Given the description of an element on the screen output the (x, y) to click on. 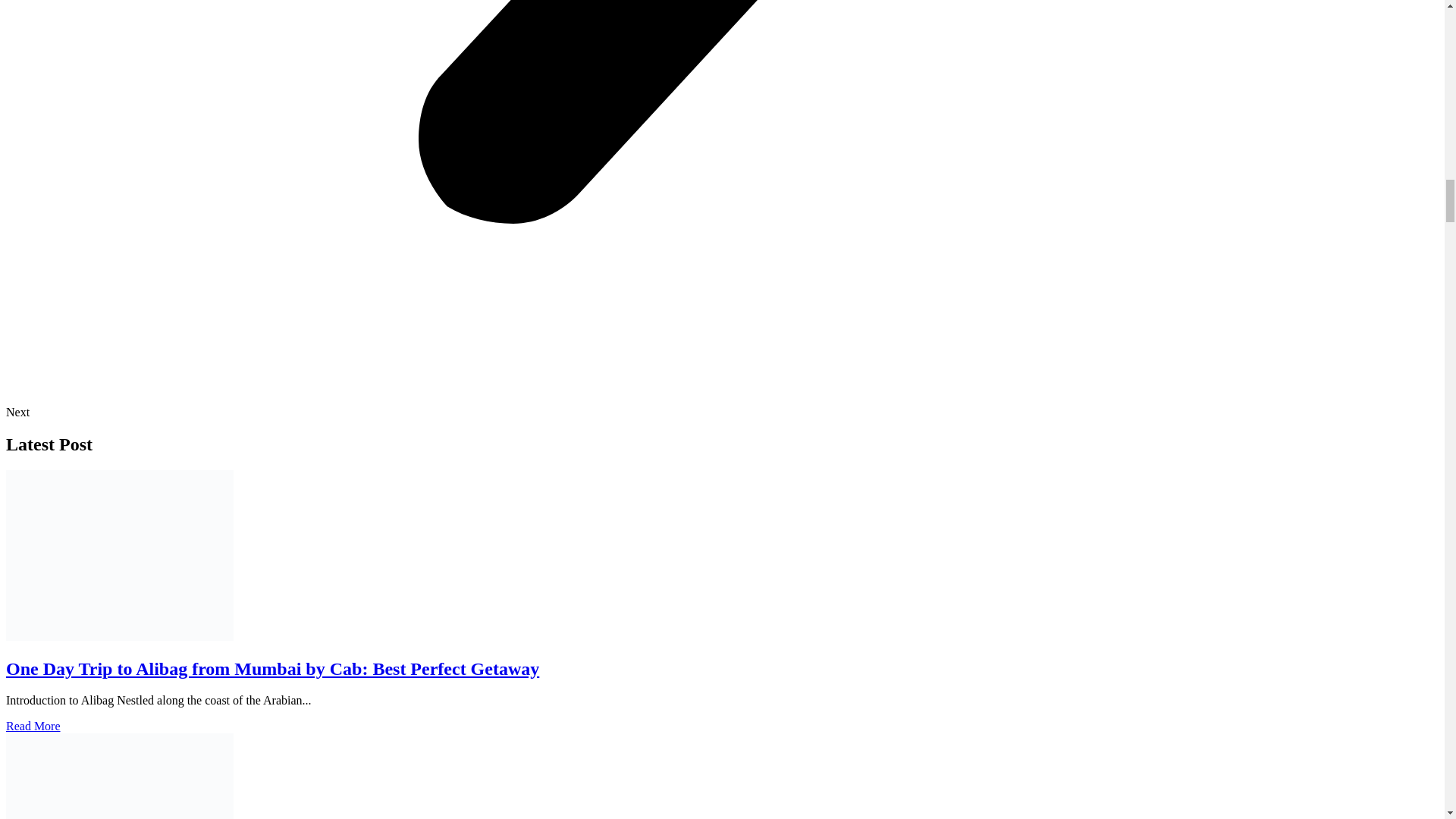
Read More (33, 725)
